Given the description of an element on the screen output the (x, y) to click on. 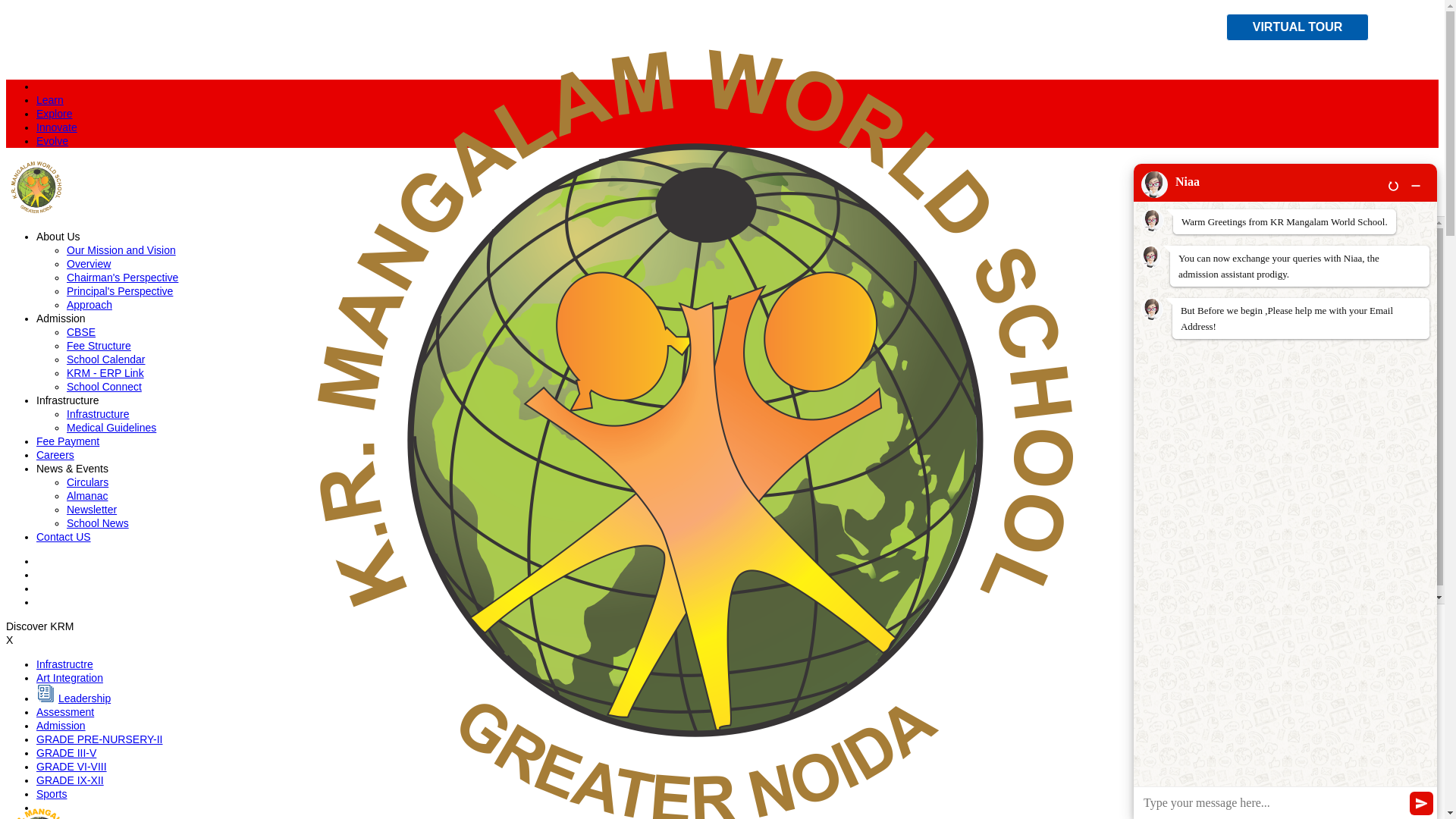
Fee Structure (98, 345)
Medical Guidelines (110, 427)
Infrastructre (64, 664)
KRM World School Greater Noida (121, 812)
School Connect (103, 386)
Overview (88, 263)
About Us (58, 236)
Evolve (52, 141)
School Calendar (105, 358)
VIRTUAL TOUR (1296, 26)
Fee Payment (67, 440)
Chairman's Perspective (121, 277)
Admission (60, 318)
Restart (1393, 185)
Infrastructure (97, 413)
